Given the description of an element on the screen output the (x, y) to click on. 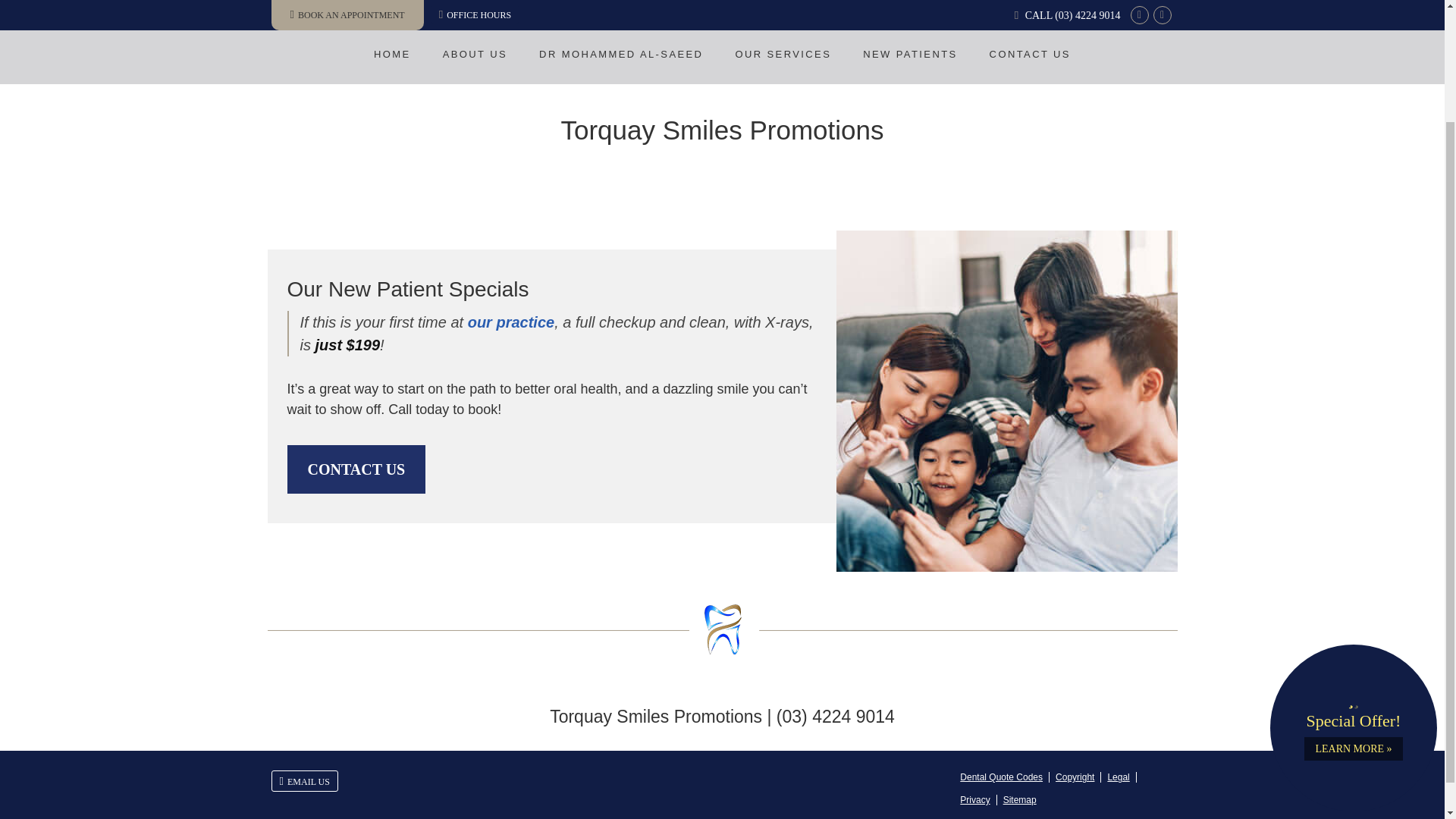
CONTACT US (1030, 54)
Torquay Smiles (721, 2)
NEW PATIENTS (909, 54)
Welcome to Torquay Smiles (721, 2)
CONTACT US (355, 469)
ABOUT US (474, 54)
Footer Links (1061, 788)
HOME (392, 54)
Contact (303, 780)
OUR SERVICES (783, 54)
our practice (510, 321)
DR MOHAMMED AL-SAEED (620, 54)
